Given the description of an element on the screen output the (x, y) to click on. 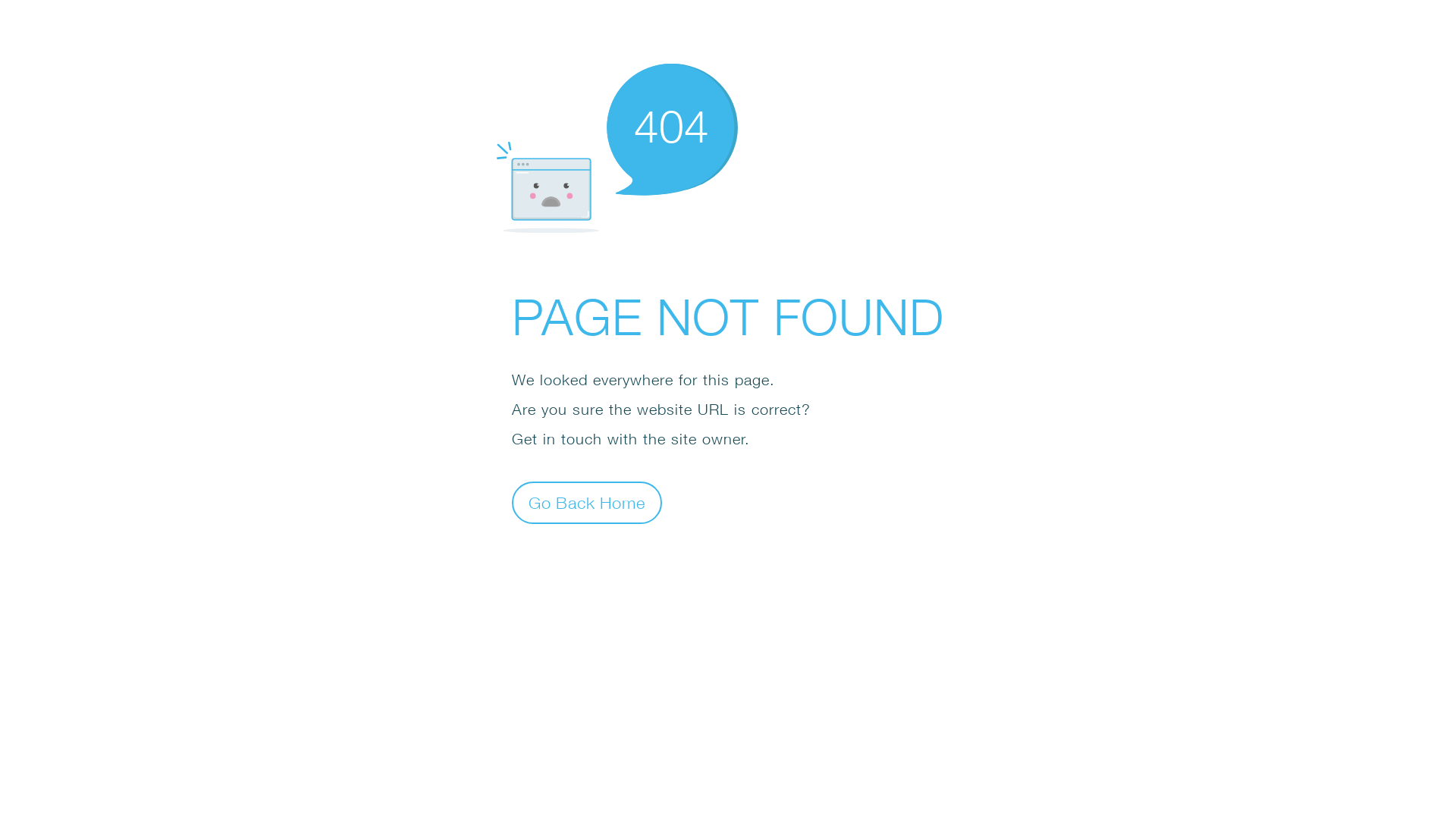
Go Back Home Element type: text (586, 502)
